Given the description of an element on the screen output the (x, y) to click on. 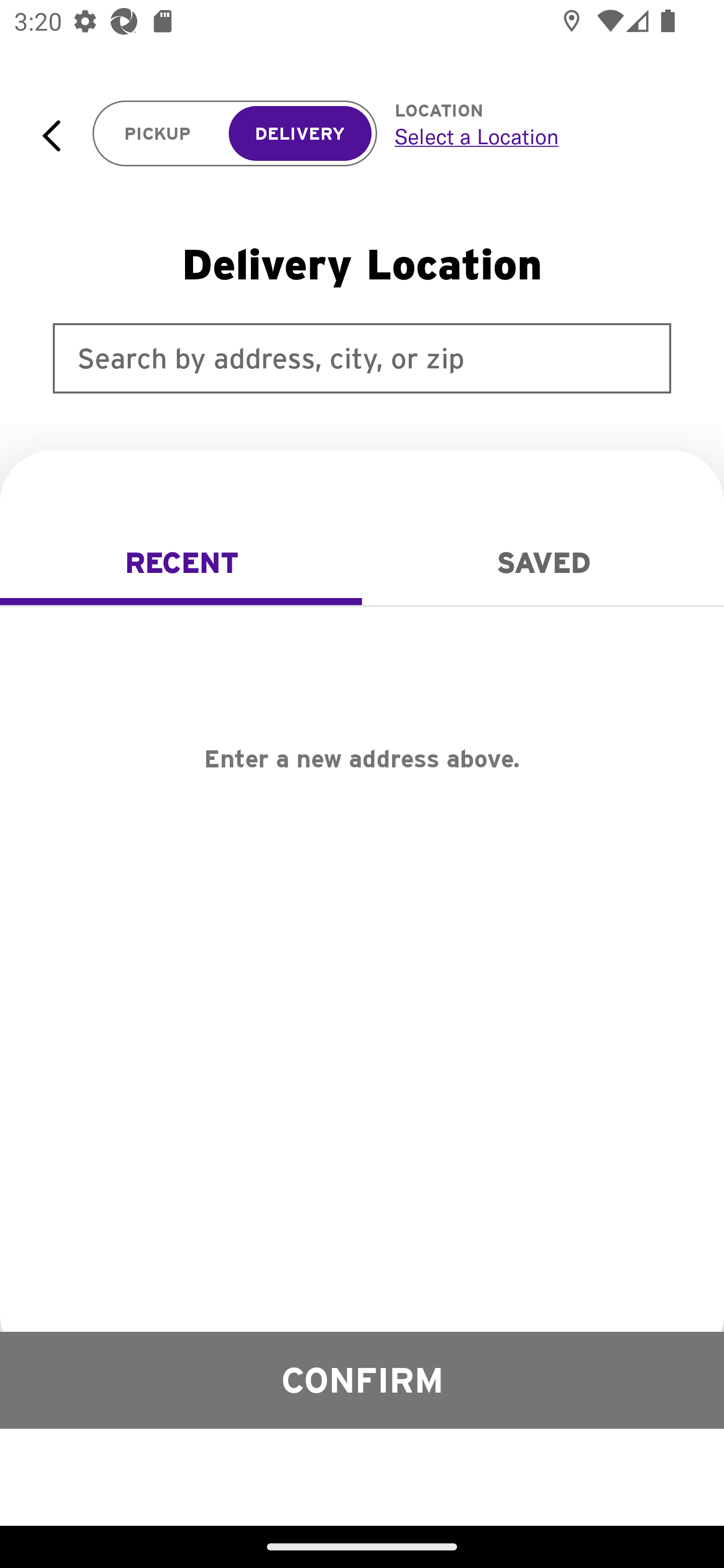
PICKUP (157, 133)
DELIVERY (299, 133)
Select a Location (536, 136)
Search by address, city, or zip (361, 358)
Saved SAVED (543, 562)
CONFIRM (362, 1379)
